Given the description of an element on the screen output the (x, y) to click on. 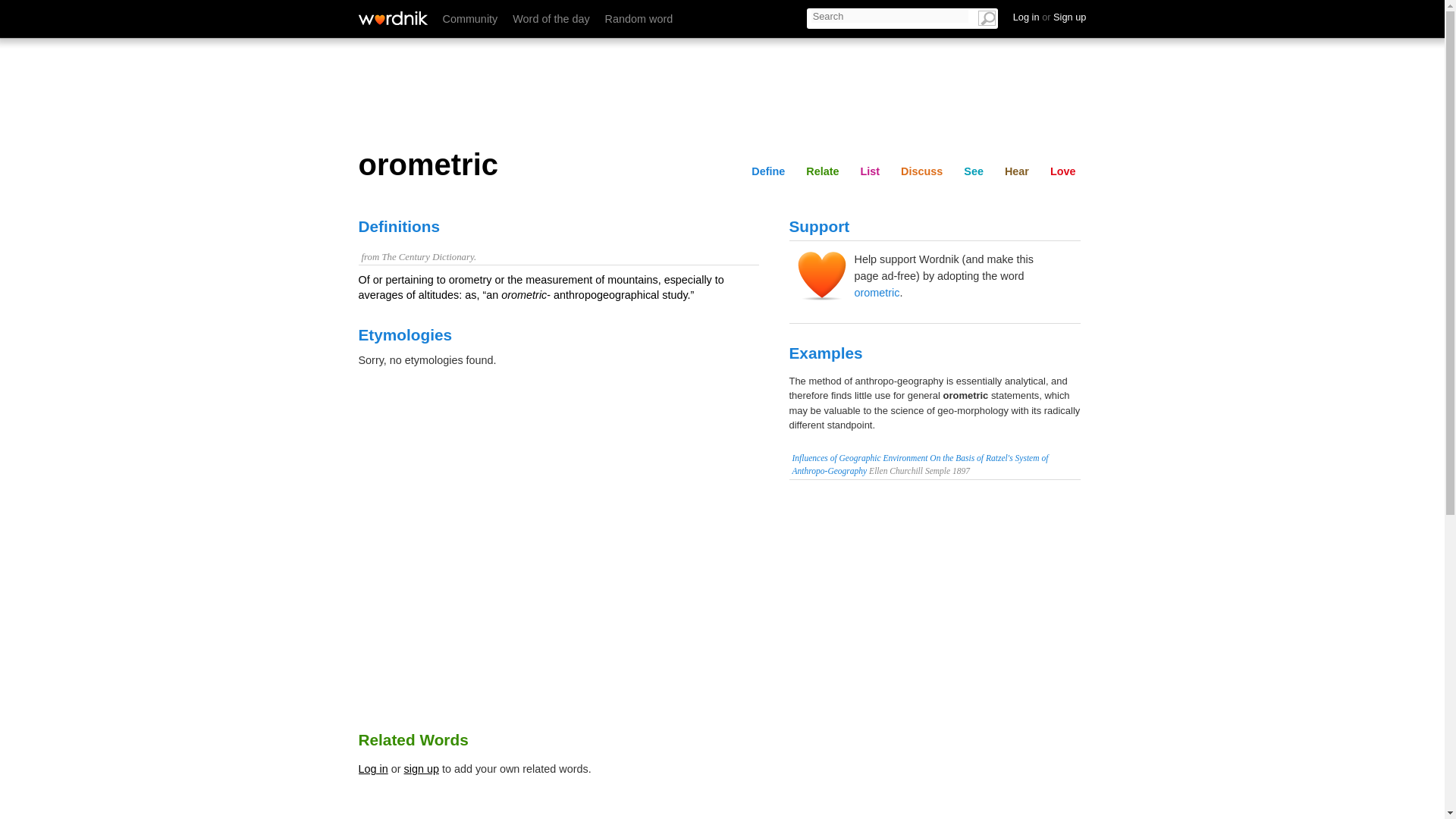
Community (469, 19)
Hear (1063, 16)
orometric (876, 292)
Log in or Sign Up (1049, 16)
Random Word (638, 19)
List (907, 16)
Define (767, 171)
Define (798, 16)
Relate (854, 16)
